Given the description of an element on the screen output the (x, y) to click on. 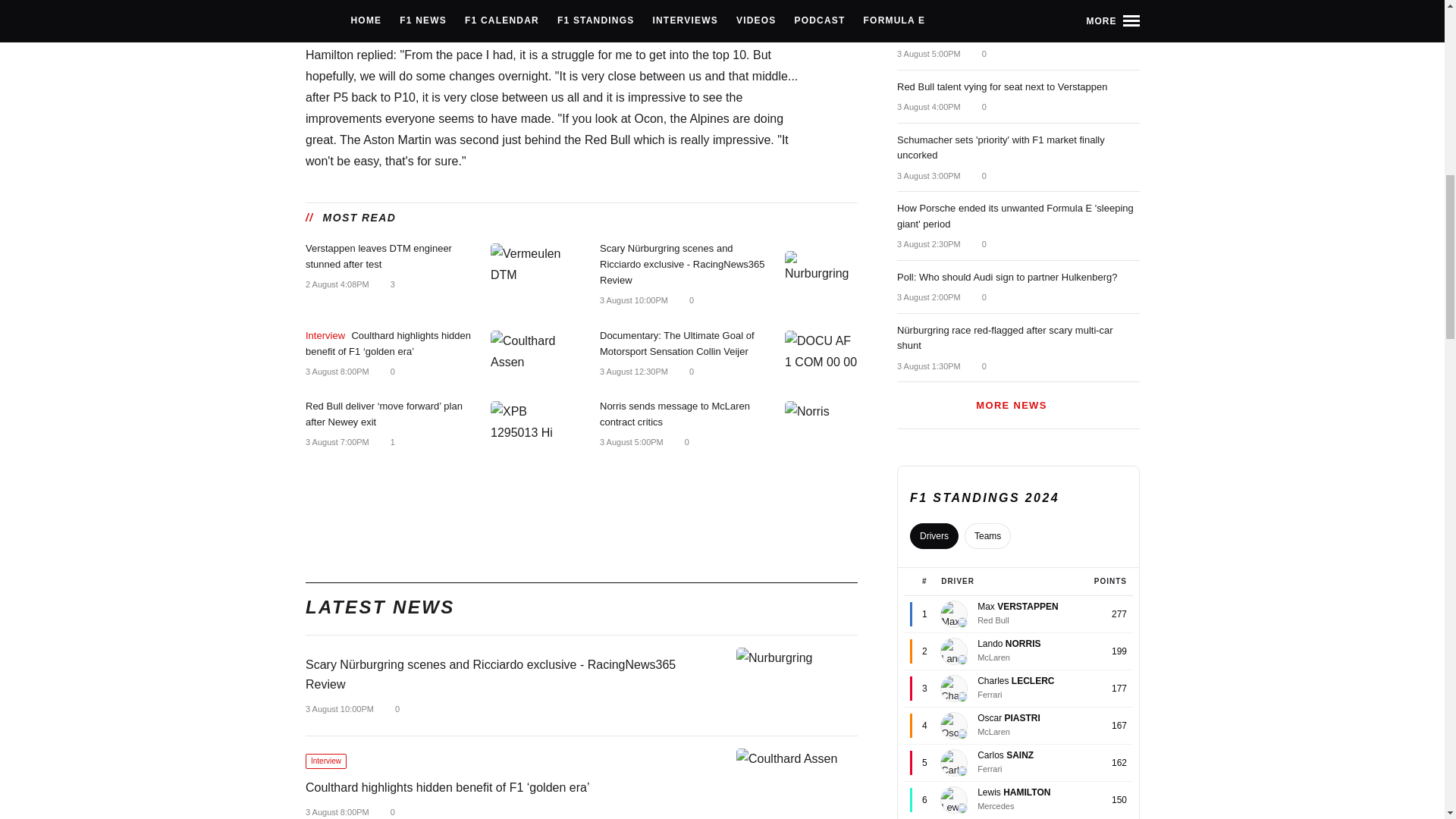
Saturday 03 August 2024, 5:00PM (630, 442)
Saturday 03 August 2024, 10:00PM (338, 708)
Saturday 03 August 2024, 10:00PM (632, 299)
Saturday 03 August 2024, 7:00PM (336, 442)
Saturday 03 August 2024, 12:30PM (632, 370)
Saturday 03 August 2024, 8:00PM (336, 370)
Friday 02 August 2024, 4:08PM (336, 284)
